Given the description of an element on the screen output the (x, y) to click on. 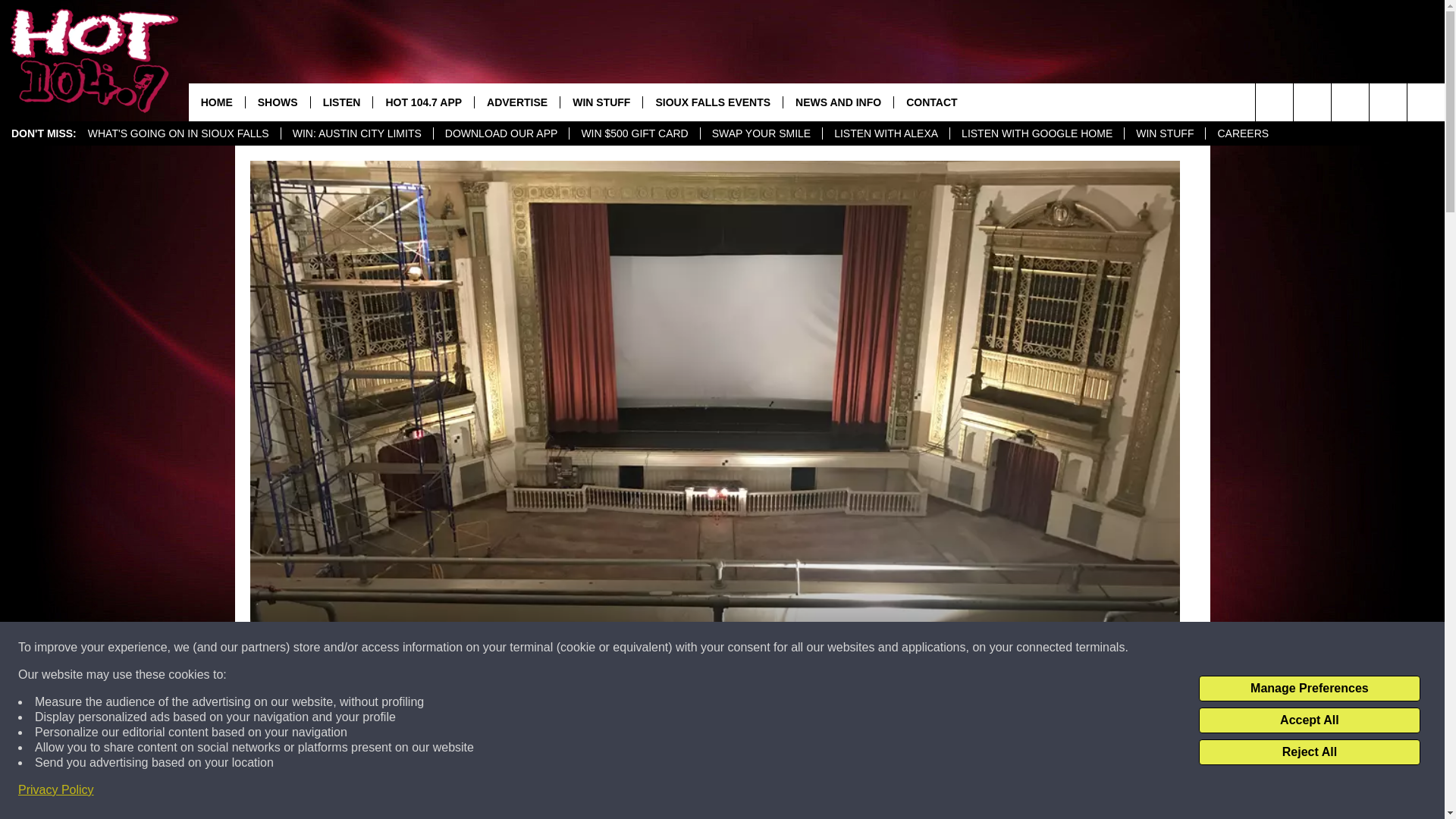
DOWNLOAD OUR APP (500, 133)
CAREERS (1242, 133)
LISTEN WITH GOOGLE HOME (1036, 133)
LISTEN WITH ALEXA (885, 133)
WHAT'S GOING ON IN SIOUX FALLS (179, 133)
LISTEN (341, 102)
SWAP YOUR SMILE (761, 133)
Share on Facebook (517, 791)
WIN STUFF (1164, 133)
SHOWS (277, 102)
ADVERTISE (516, 102)
Privacy Policy (55, 789)
WIN: AUSTIN CITY LIMITS (356, 133)
HOT 104.7 APP (423, 102)
WIN STUFF (600, 102)
